Given the description of an element on the screen output the (x, y) to click on. 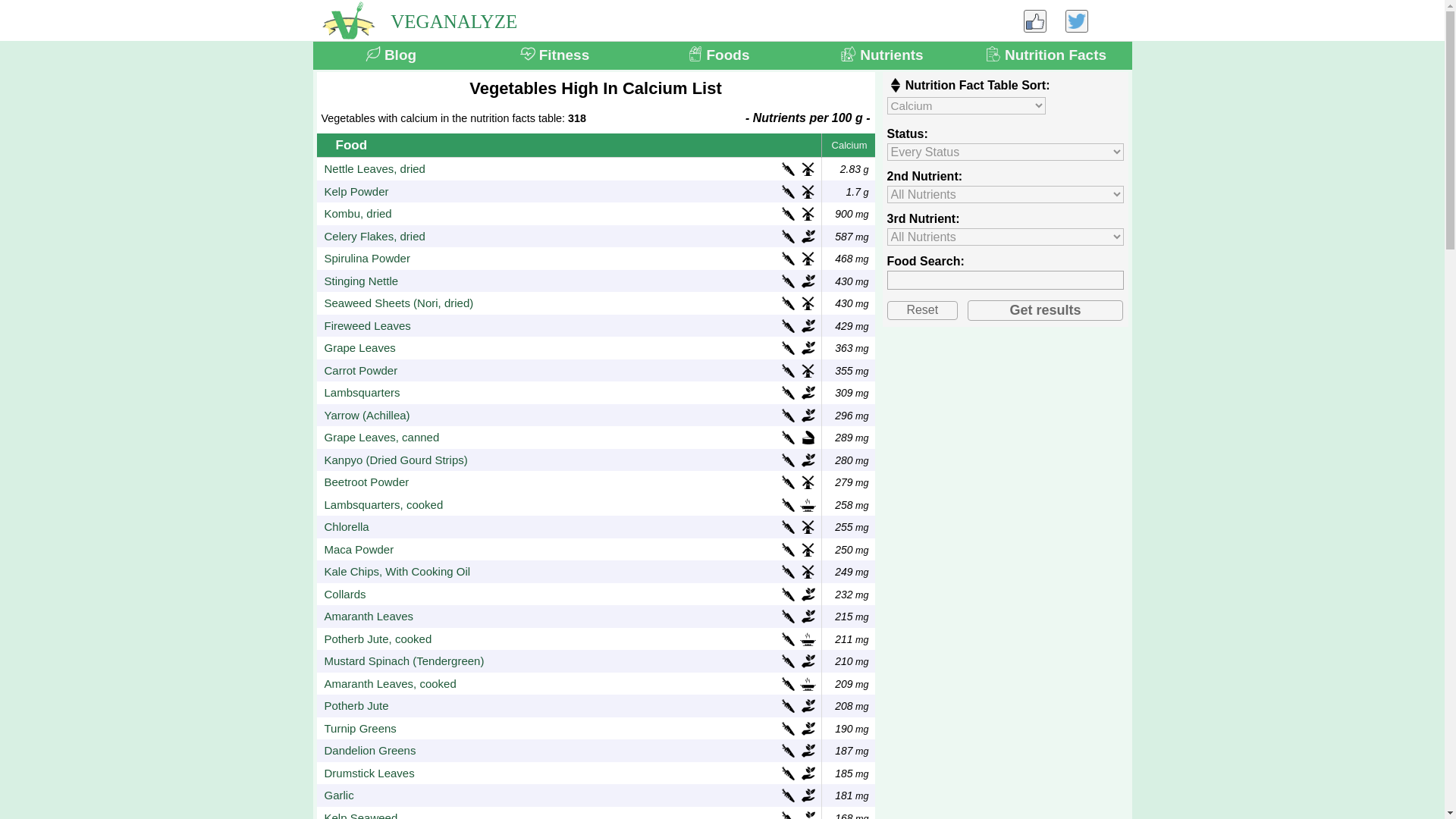
Carrot Powder (360, 370)
Kelp Powder (356, 191)
Vegetables (788, 258)
Fireweed Leaves (367, 325)
Stinging Nettle (361, 280)
Lambsquarters (362, 391)
Celery Flakes, dried (374, 236)
Kombu, dried (358, 213)
Processed (807, 169)
Processed (807, 213)
